Given the description of an element on the screen output the (x, y) to click on. 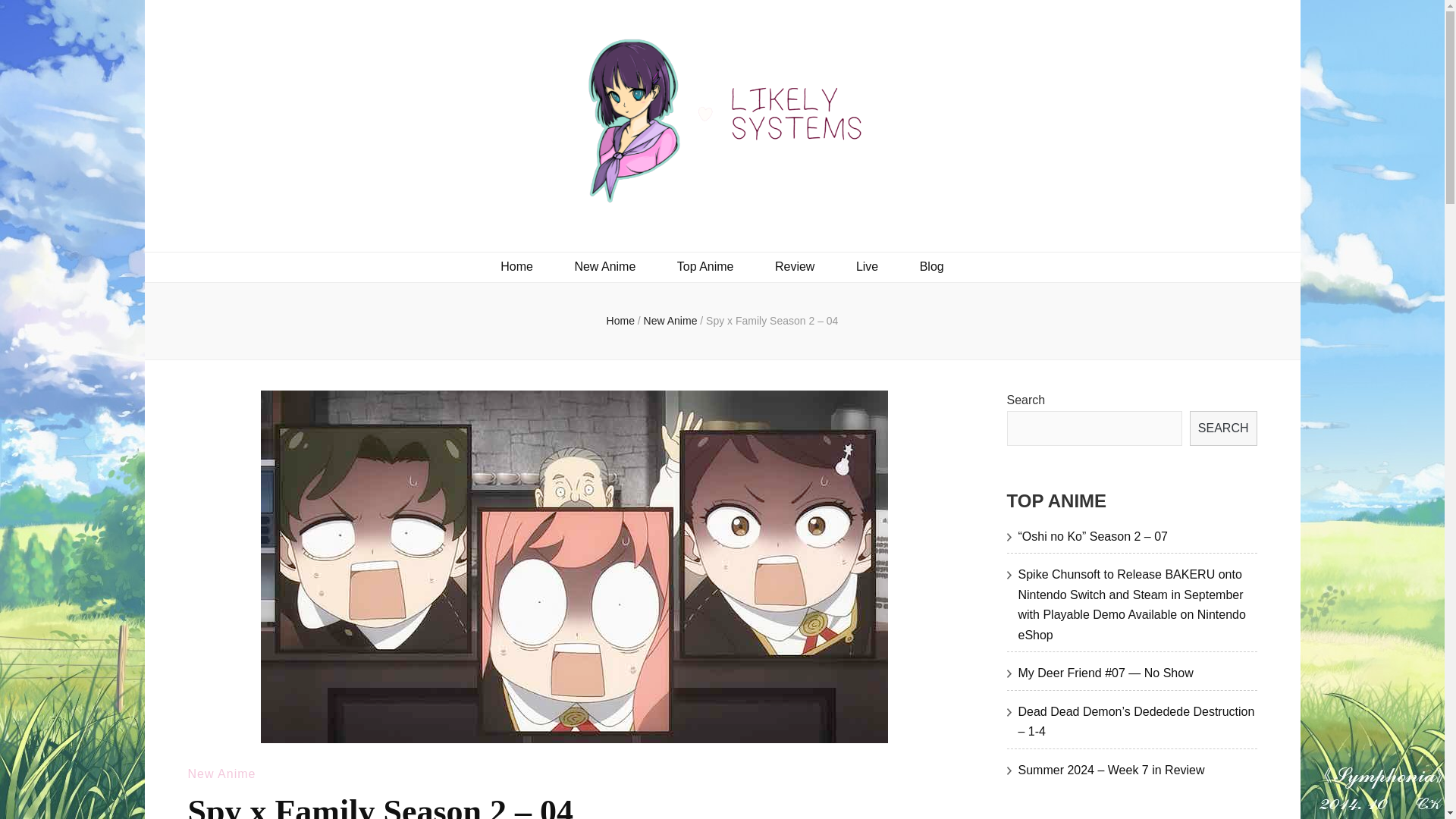
Home (620, 320)
Review (793, 267)
Home (516, 267)
Blog (931, 267)
Top Anime (705, 267)
New Anime (221, 773)
New Anime (671, 320)
Likely systems (322, 233)
Live (866, 267)
New Anime (603, 267)
